Given the description of an element on the screen output the (x, y) to click on. 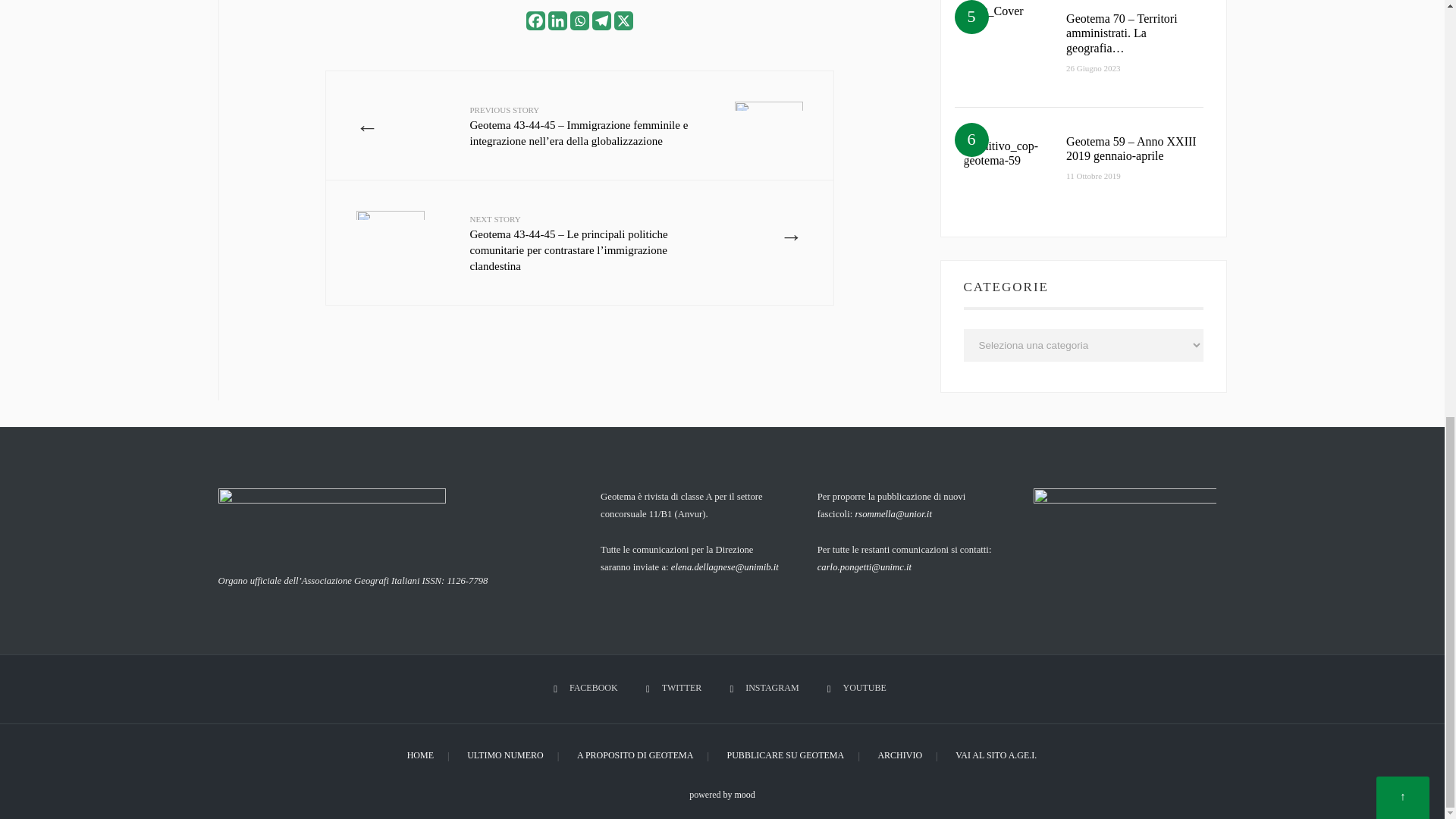
Linkedin (556, 20)
Telegram (600, 20)
X (623, 20)
Whatsapp (579, 20)
Facebook (534, 20)
